Given the description of an element on the screen output the (x, y) to click on. 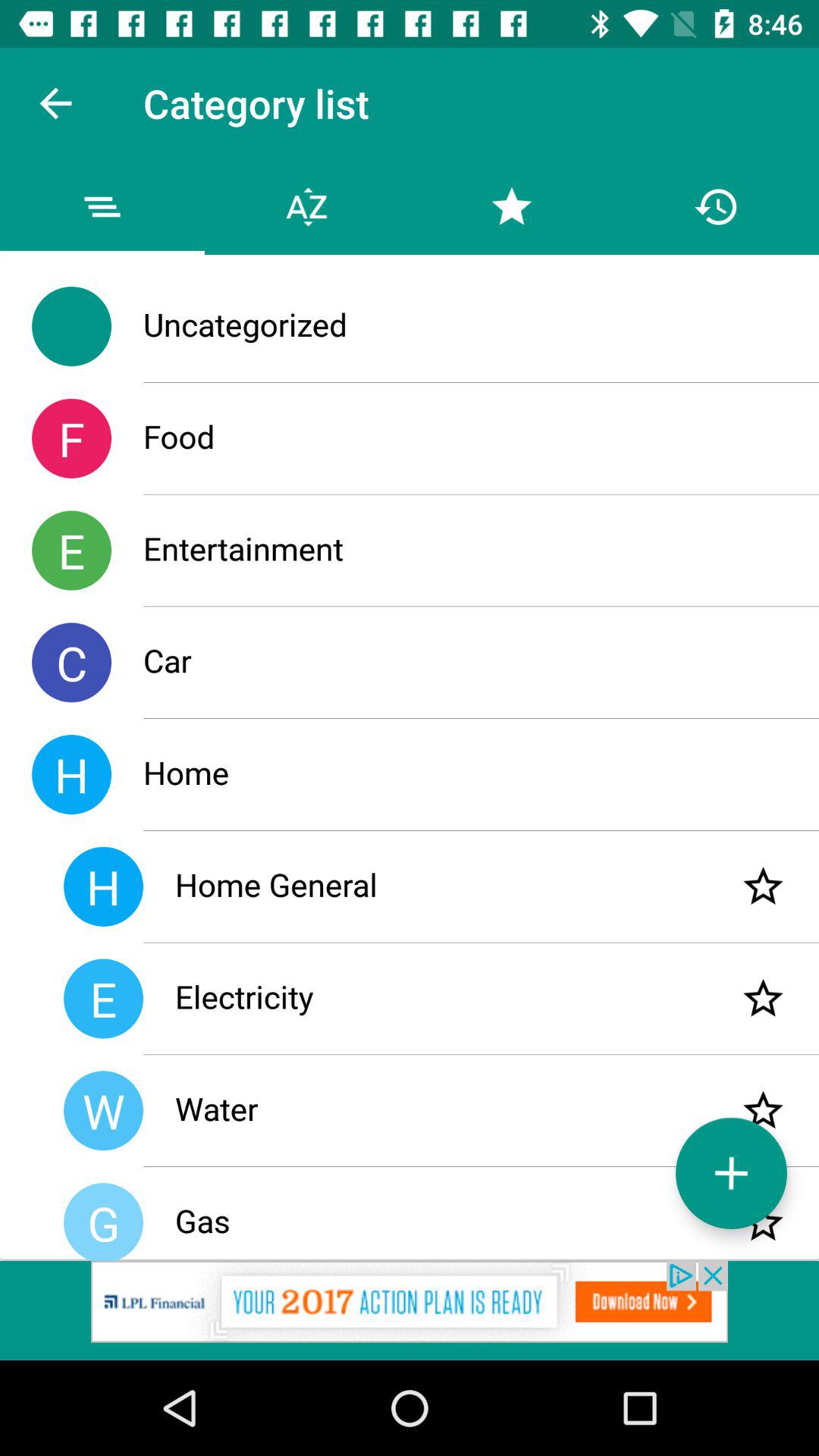
favorite star (763, 886)
